Given the description of an element on the screen output the (x, y) to click on. 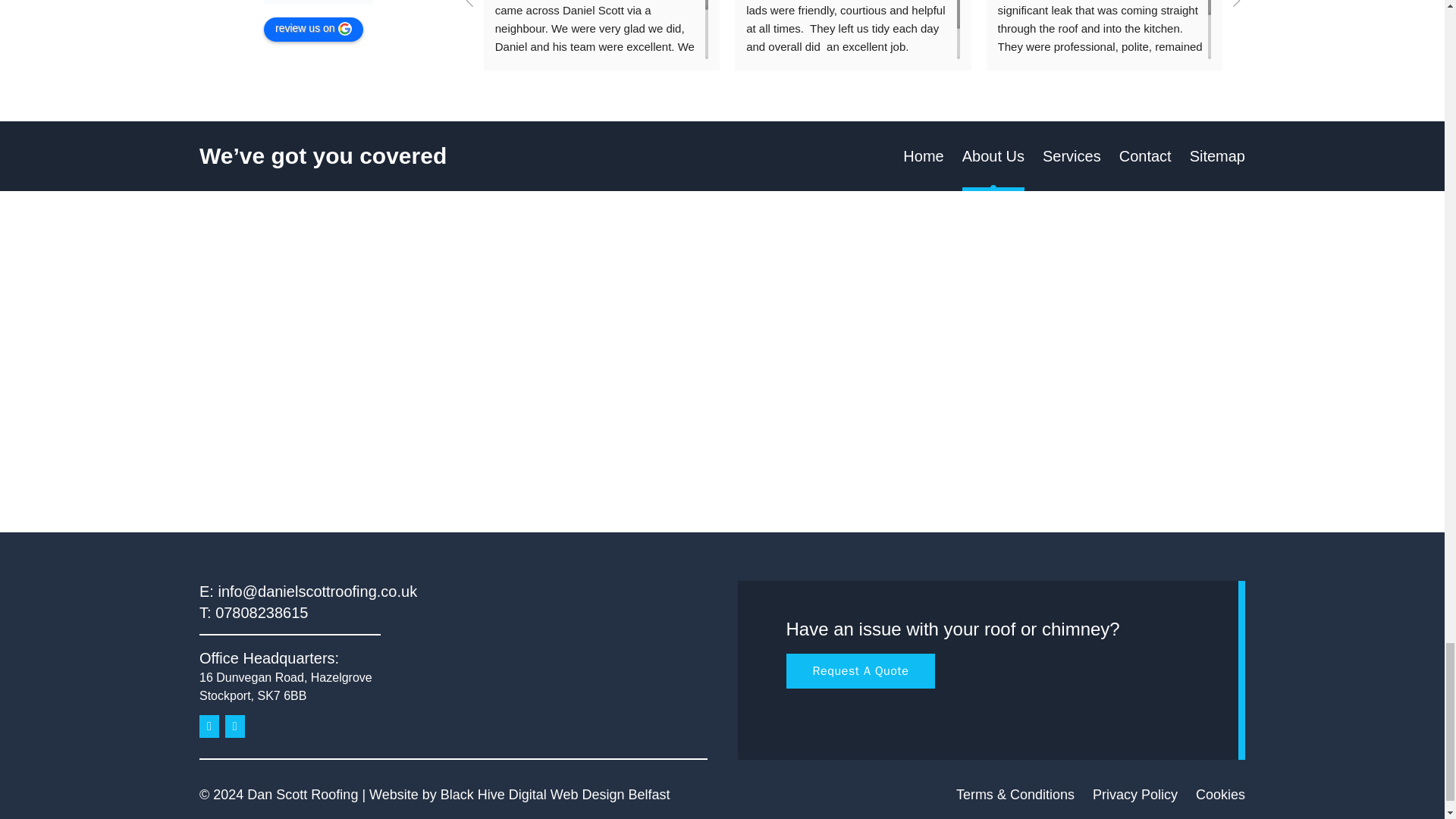
07808238615 (261, 612)
powered by Google (317, 2)
Contact (1145, 156)
Sitemap (1216, 156)
review us on (312, 29)
Cookies (1219, 794)
About Us (993, 156)
Home (922, 156)
Services (1071, 156)
Request A Quote (860, 670)
